Given the description of an element on the screen output the (x, y) to click on. 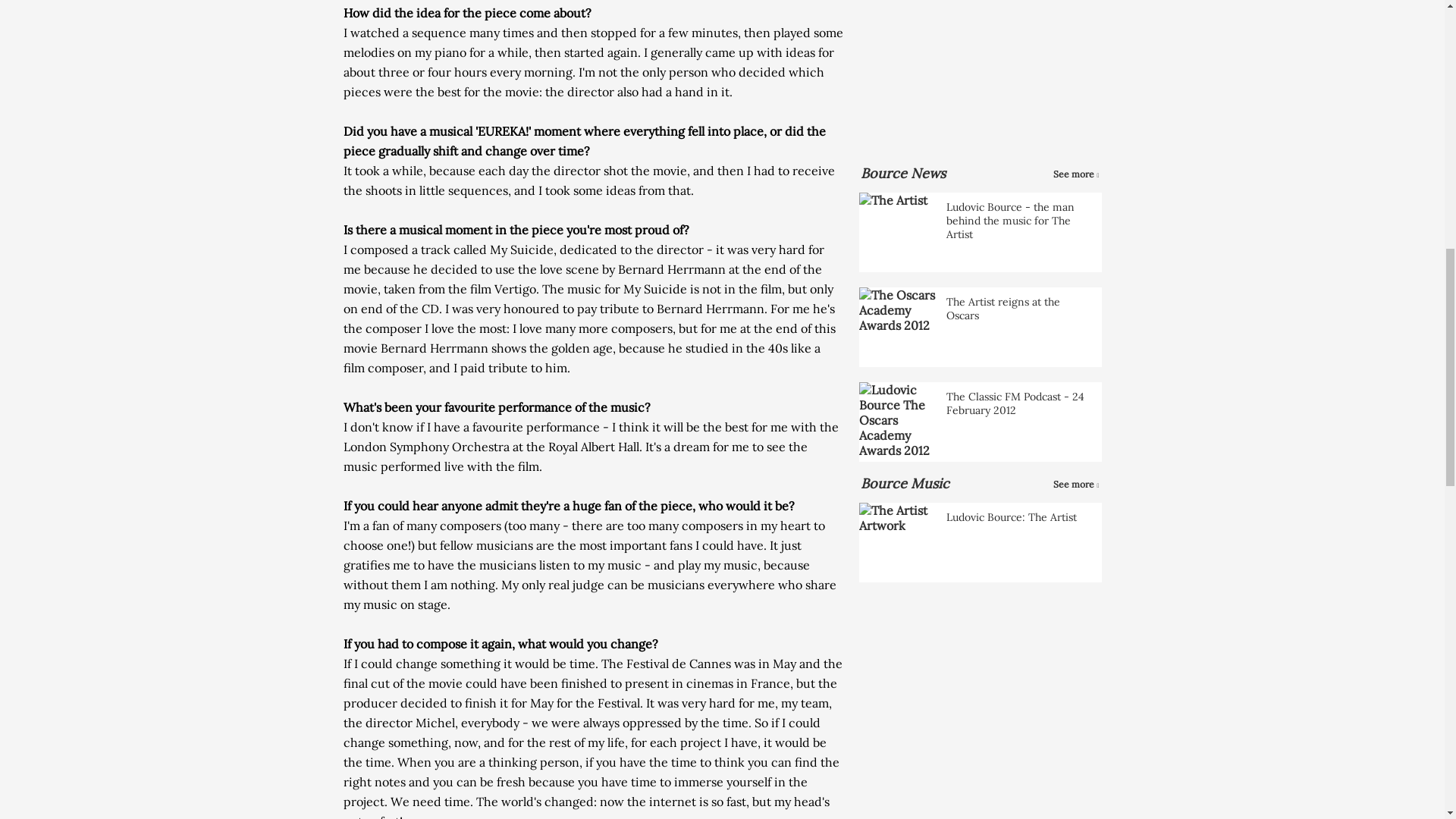
See more (1074, 174)
Ludovic Bource - the man behind the music for The Artist (979, 231)
Bource News (902, 172)
The Artist reigns at the Oscars (979, 326)
